Given the description of an element on the screen output the (x, y) to click on. 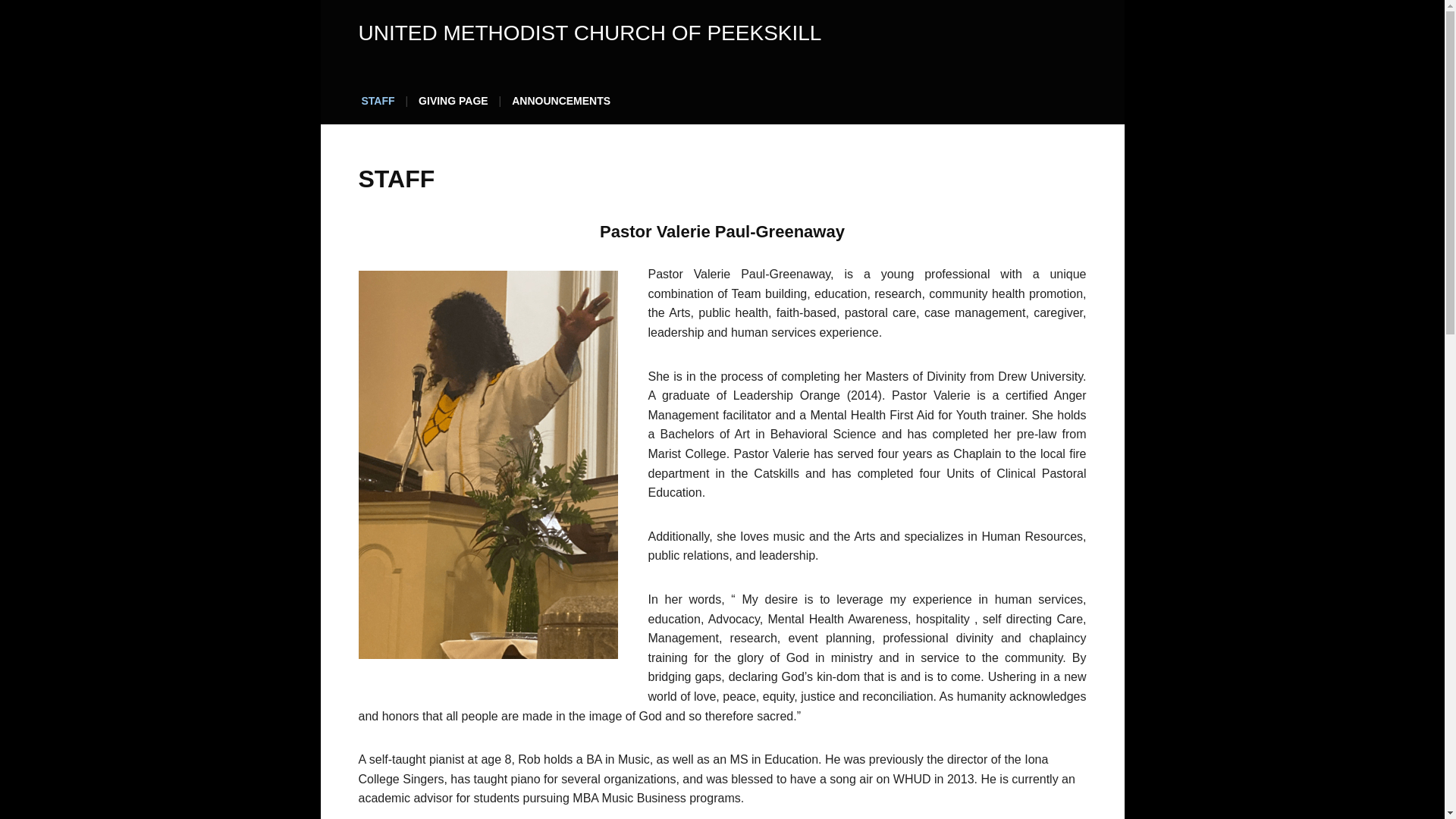
ANNOUNCEMENTS (560, 105)
STAFF (377, 105)
UNITED METHODIST CHURCH OF PEEKSKILL (589, 33)
GIVING PAGE (453, 105)
